Given the description of an element on the screen output the (x, y) to click on. 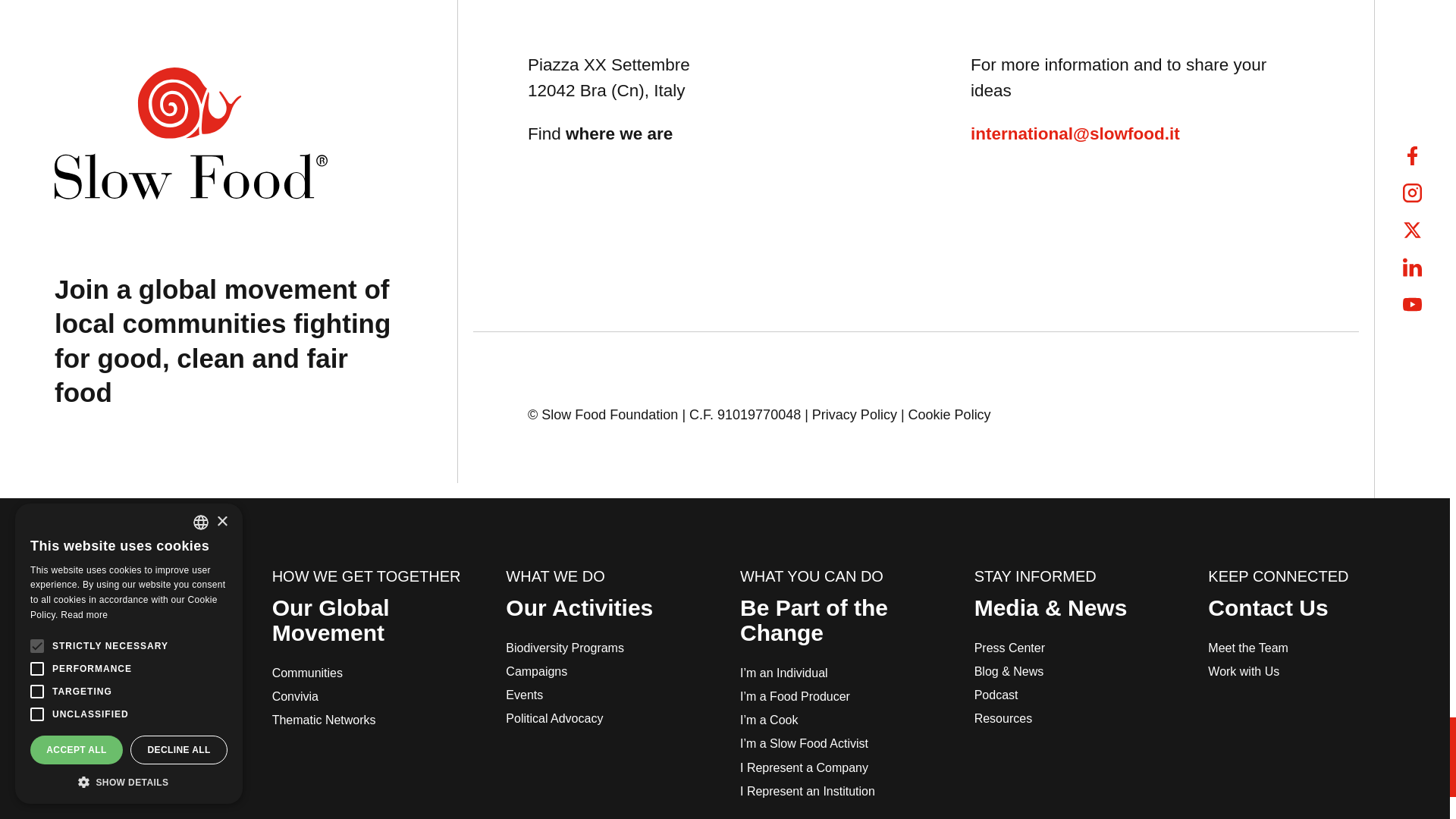
Slow Food (191, 133)
Follow us on Facebook (1411, 155)
Privacy Policy (854, 414)
Follow us on instagram (1412, 192)
Cookie Policy (949, 414)
Follow us on twitter (1412, 229)
